Given the description of an element on the screen output the (x, y) to click on. 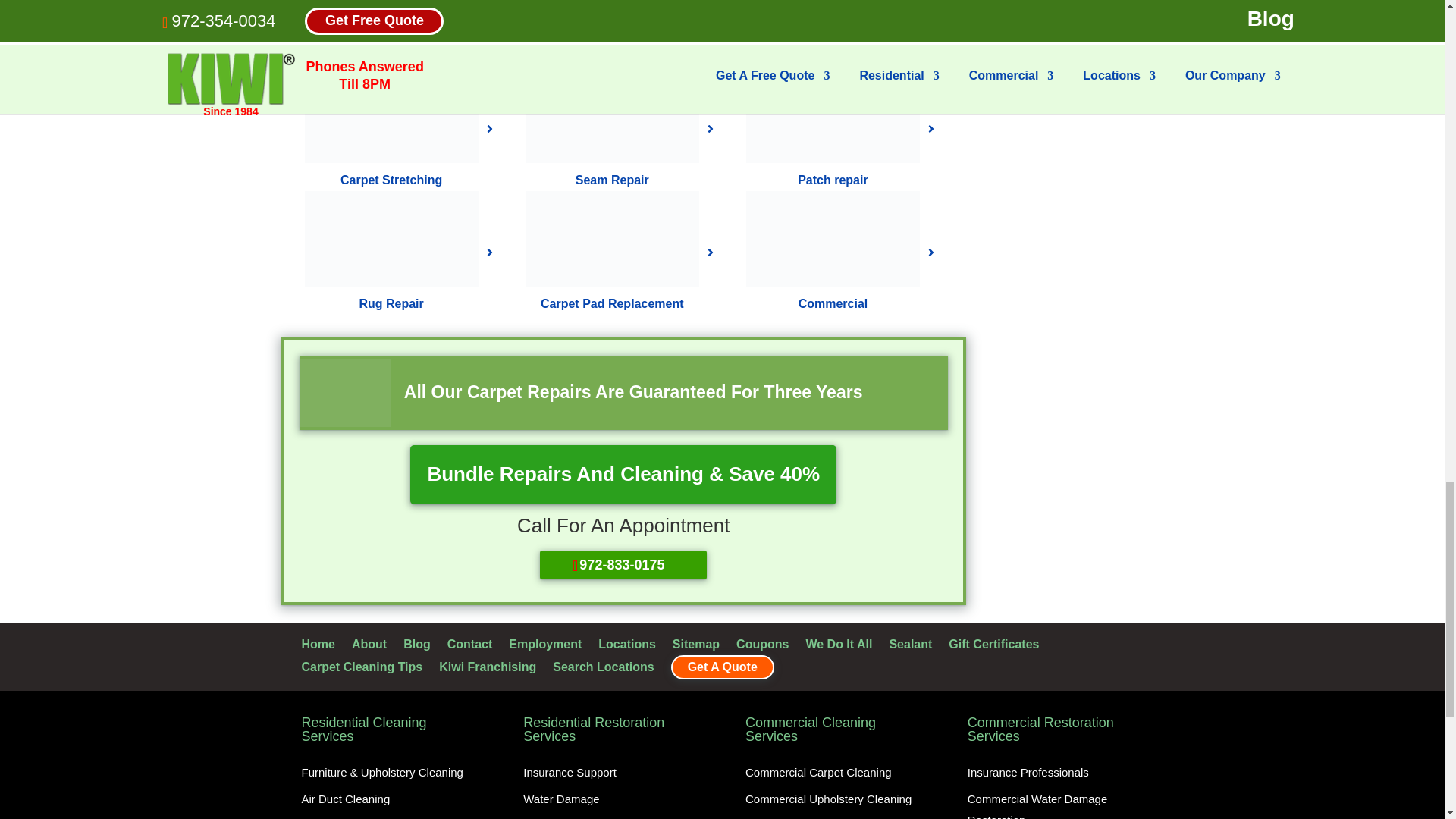
Carpet Stretching (391, 114)
Rug Repair (391, 238)
Commercial (832, 303)
Carpet Pad Replacement (611, 238)
Carpet Pad Replacement (612, 303)
Rug Repair (390, 303)
Seam Repair (611, 114)
Patch repair (832, 179)
Commercial (832, 238)
Carpet Stretching (391, 179)
Seam Repair (612, 179)
Patch repair (832, 114)
